Given the description of an element on the screen output the (x, y) to click on. 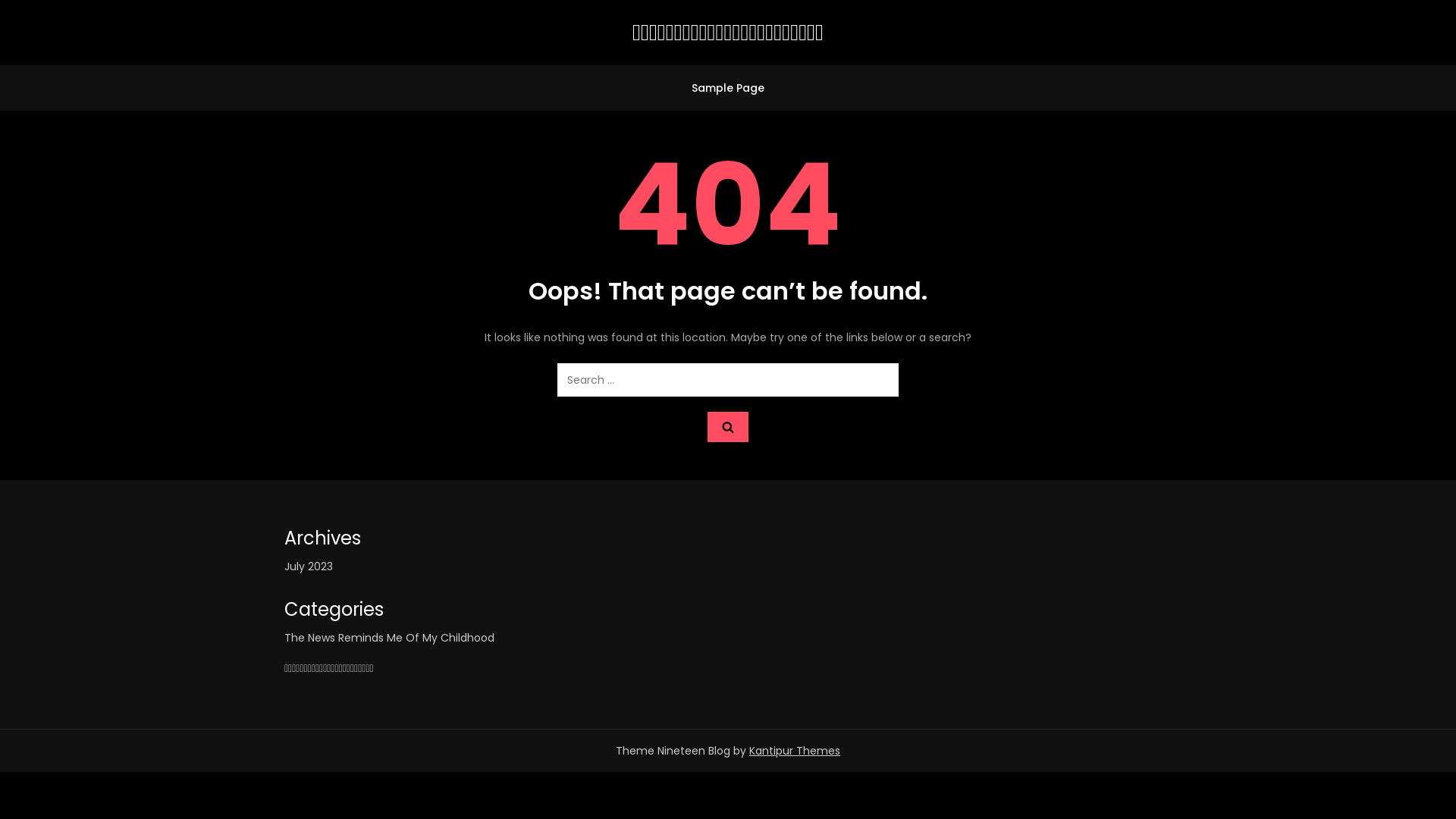
Sample Page Element type: text (727, 87)
The News Reminds Me Of My Childhood Element type: text (389, 637)
Kantipur Themes Element type: text (794, 750)
July 2023 Element type: text (308, 566)
Search Element type: text (727, 426)
